Given the description of an element on the screen output the (x, y) to click on. 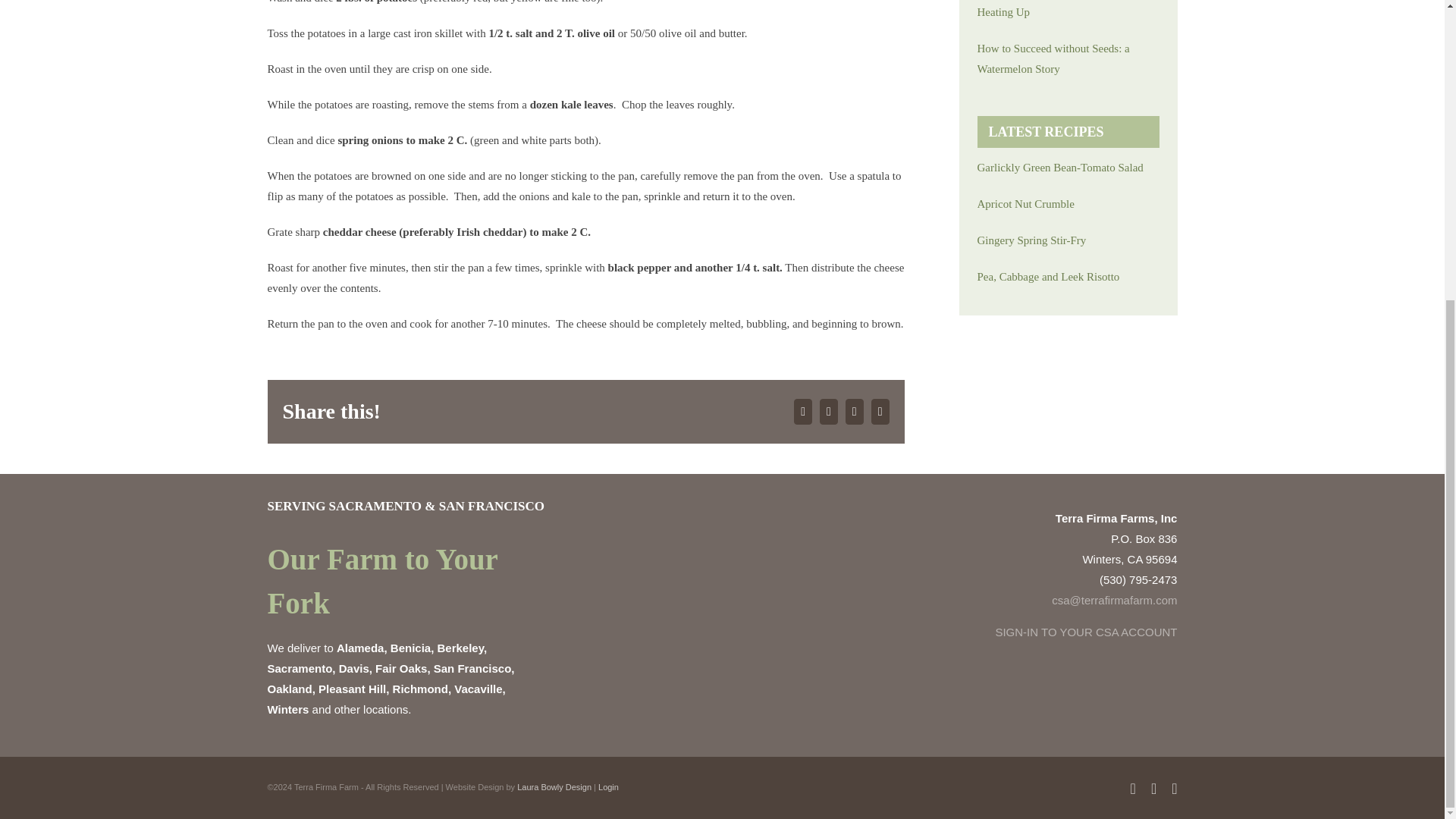
Twitter (828, 411)
Yelp (1174, 788)
Email (879, 411)
Tumblr (854, 411)
Apricot Nut Crumble (1067, 204)
How to Succeed without Seeds: a Watermelon Story (1067, 58)
Facebook (802, 411)
Instagram (1153, 788)
SIGN-IN TO YOUR CSA ACCOUNT (1085, 631)
Garlickly Green Bean-Tomato Salad (1067, 168)
Gingery Spring Stir-Fry (1067, 240)
Facebook (802, 411)
Email (879, 411)
Twitter (828, 411)
Pea, Cabbage and Leek Risotto (1067, 276)
